Given the description of an element on the screen output the (x, y) to click on. 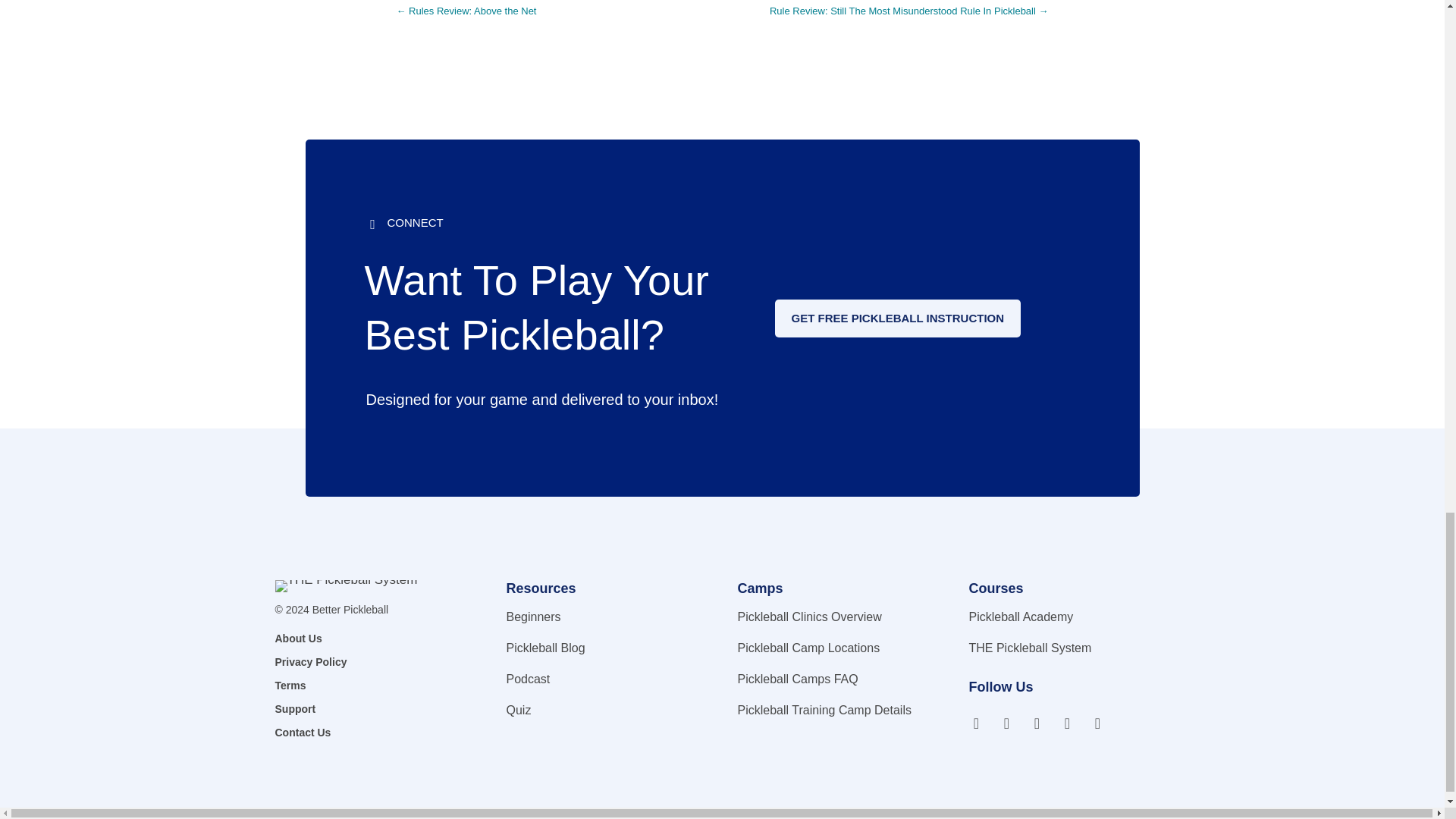
Click Here (898, 318)
Better-Pickleball-Logo-2023 (345, 585)
GET FREE PICKLEBALL INSTRUCTION (898, 318)
